Given the description of an element on the screen output the (x, y) to click on. 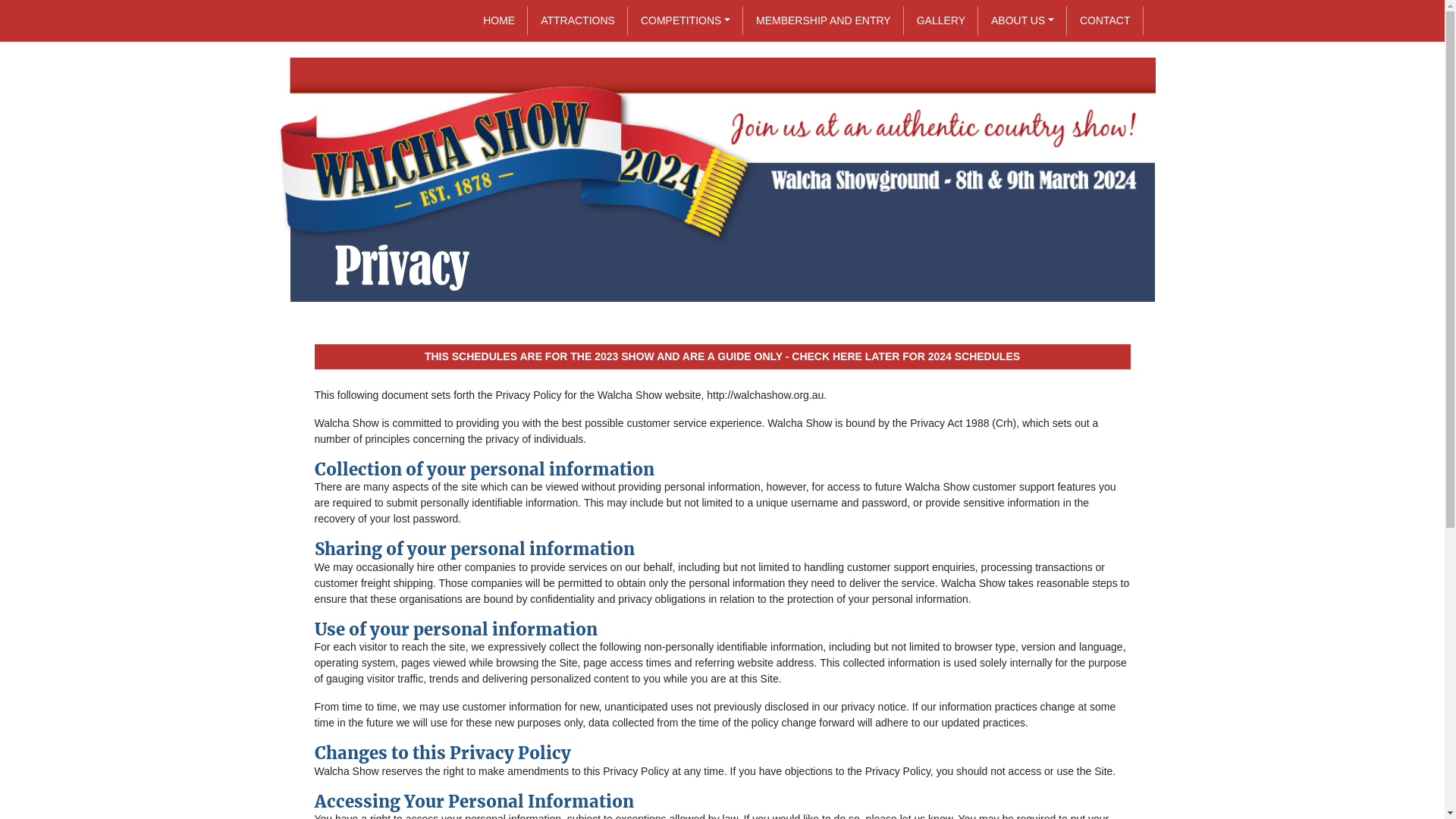
HOME Element type: text (498, 20)
MEMBERSHIP AND ENTRY Element type: text (823, 20)
GALLERY Element type: text (940, 20)
ATTRACTIONS Element type: text (577, 20)
ABOUT US Element type: text (1022, 20)
CONTACT Element type: text (1104, 20)
COMPETITIONS Element type: text (685, 20)
